Given the description of an element on the screen output the (x, y) to click on. 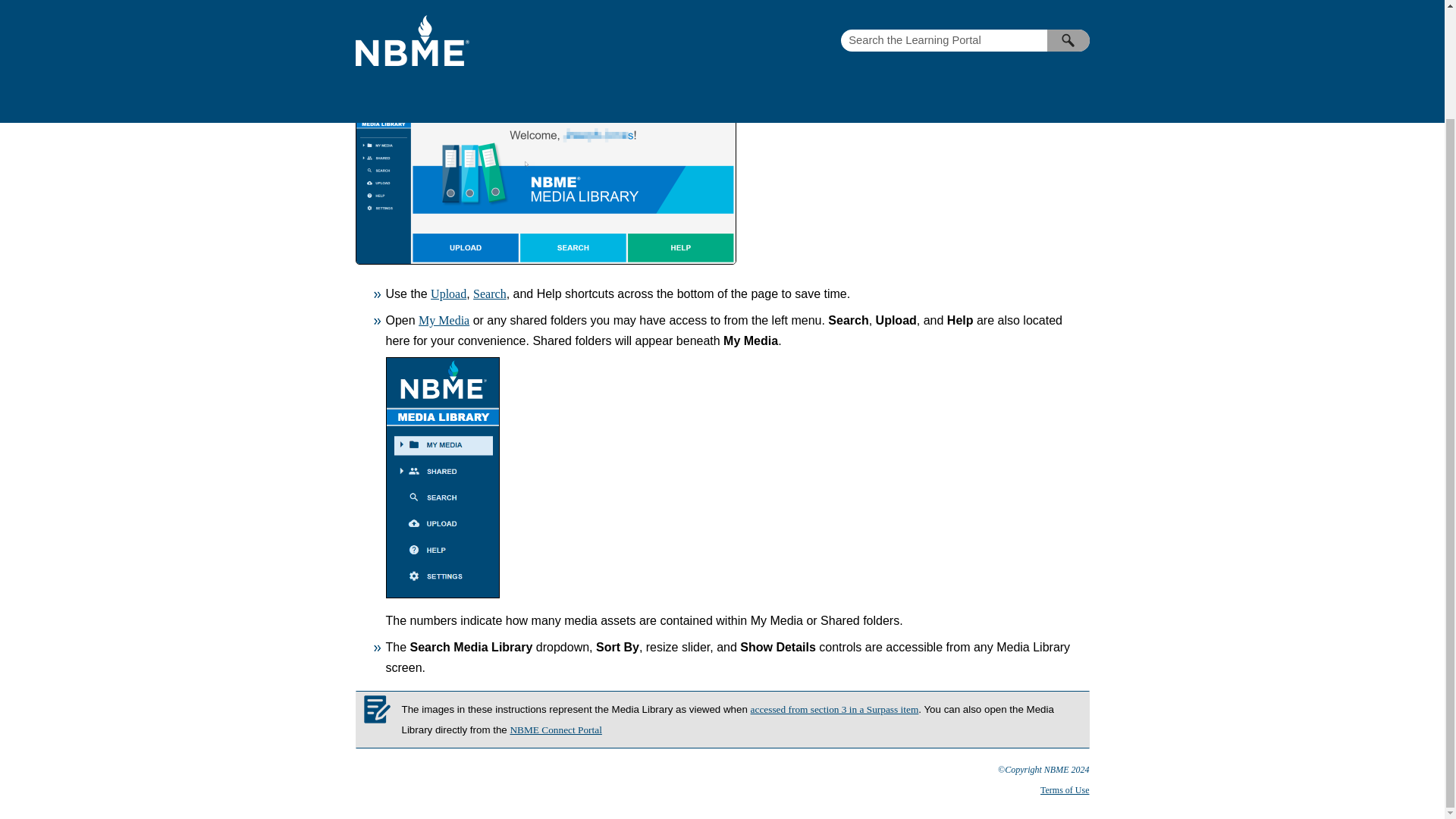
Media Library homepage (966, 61)
My Media (443, 319)
Terms of Use (1065, 789)
accessed from section 3 in a Surpass item (834, 708)
Search (489, 293)
Print Page (1063, 29)
Upload (447, 293)
NBME Connect Portal (555, 729)
